Given the description of an element on the screen output the (x, y) to click on. 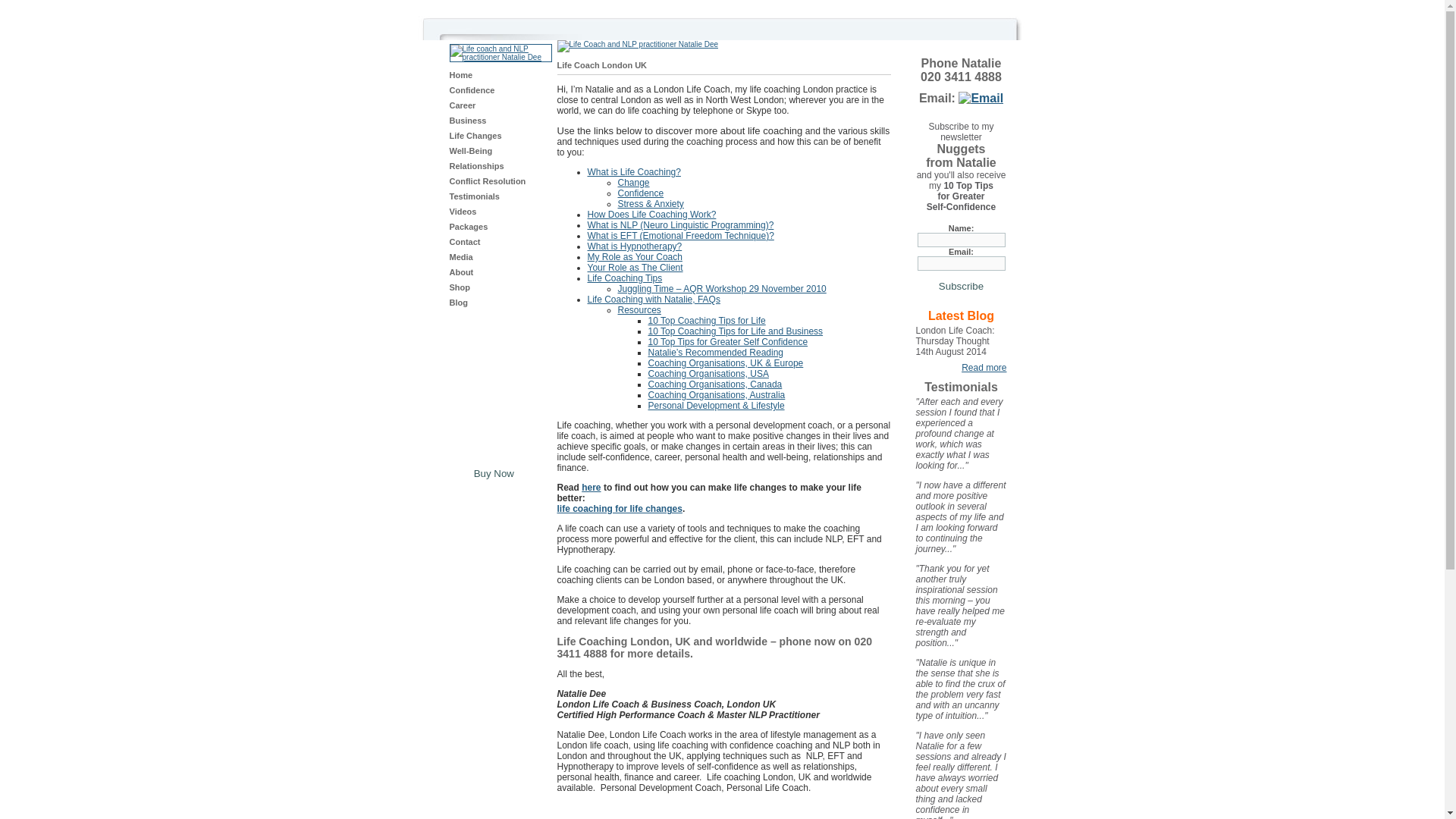
Change (633, 182)
Twitter (948, 30)
Your Role as The Client (634, 267)
Shop (459, 286)
Facebook (922, 30)
Natalie Dee Blog (961, 315)
Testimonials (473, 195)
What is Hypnotherapy? (633, 245)
Contact (464, 241)
